Given the description of an element on the screen output the (x, y) to click on. 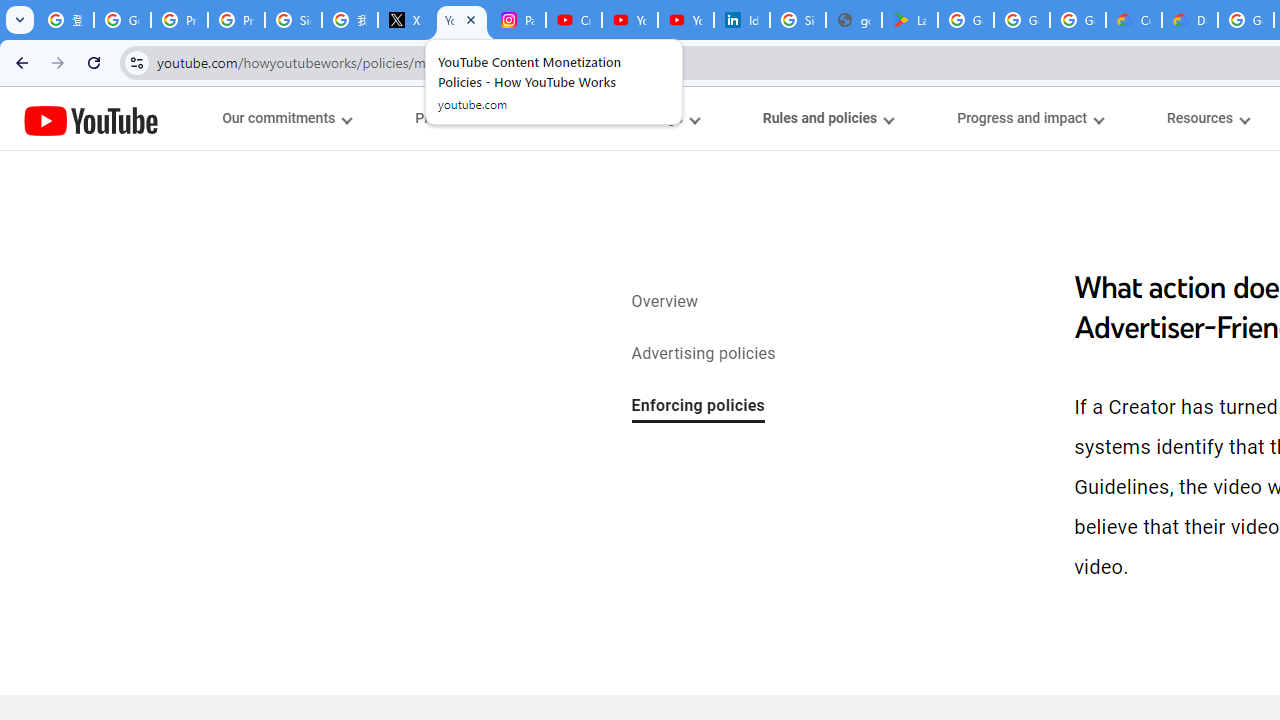
How YouTube Works (91, 118)
Identity verification via Persona | LinkedIn Help (742, 20)
Rules and policies menupopup (827, 118)
Privacy Help Center - Policies Help (235, 20)
Reload (93, 62)
Our commitments menupopup (286, 118)
Google Workspace - Specific Terms (1021, 20)
YouTube Culture & Trends - YouTube Top 10, 2021 (685, 20)
Last Shelter: Survival - Apps on Google Play (909, 20)
